Given the description of an element on the screen output the (x, y) to click on. 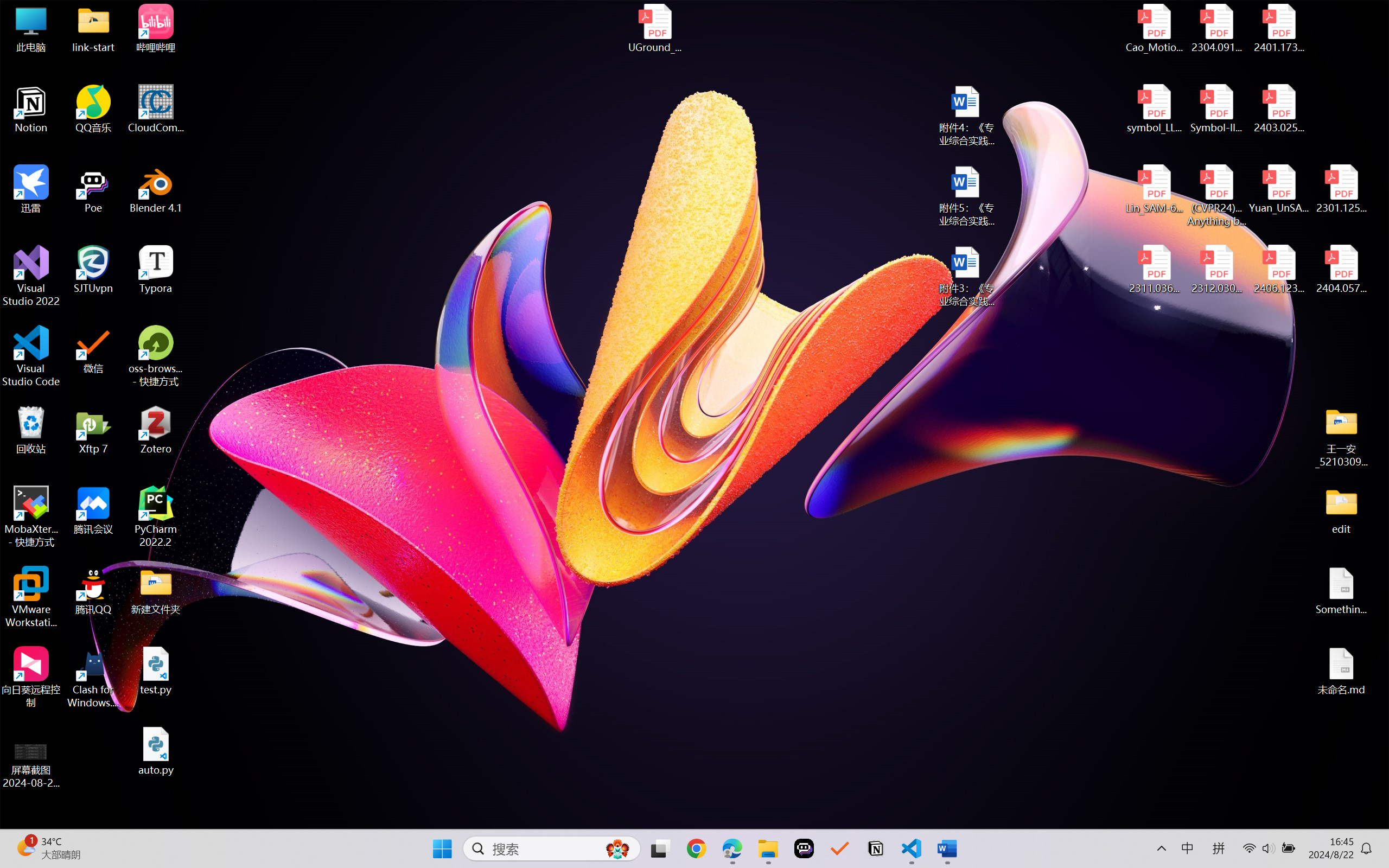
auto.py (156, 751)
Something.md (1340, 591)
2312.03032v2.pdf (1216, 269)
